Given the description of an element on the screen output the (x, y) to click on. 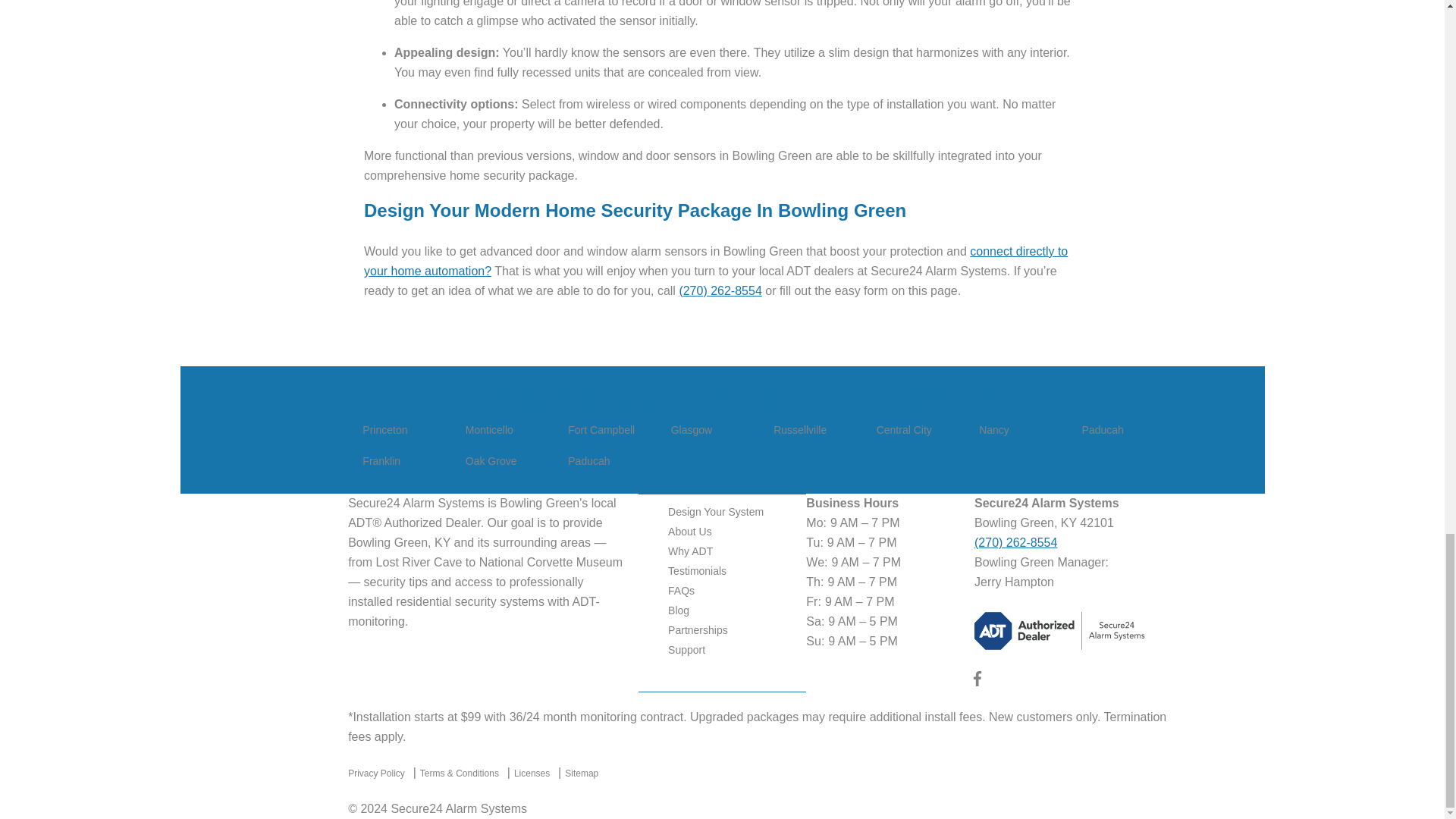
Like us on Facebook (977, 681)
